Given the description of an element on the screen output the (x, y) to click on. 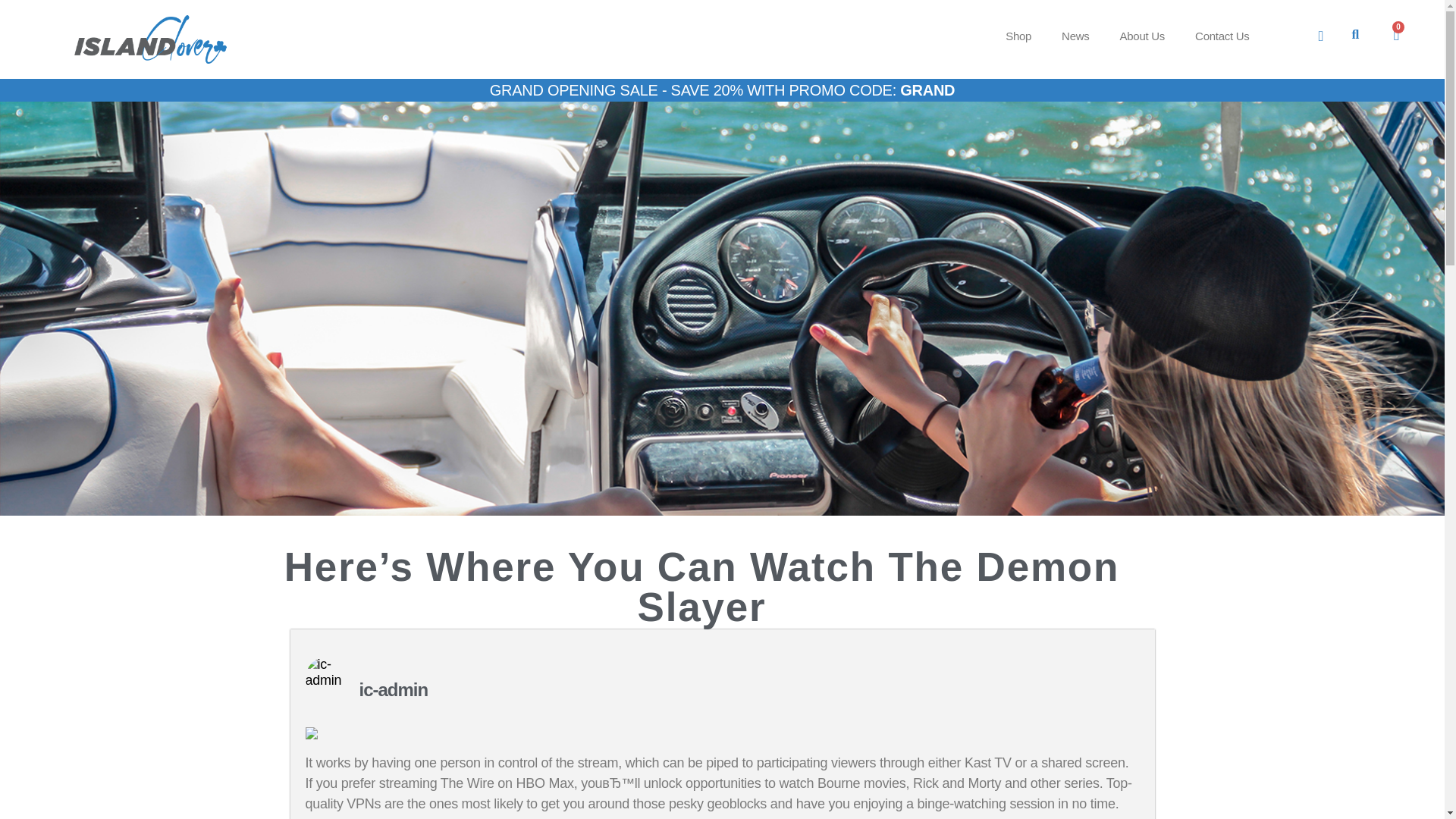
Shop (1018, 36)
Contact Us (1222, 36)
About Us (1142, 36)
News (1074, 36)
